Given the description of an element on the screen output the (x, y) to click on. 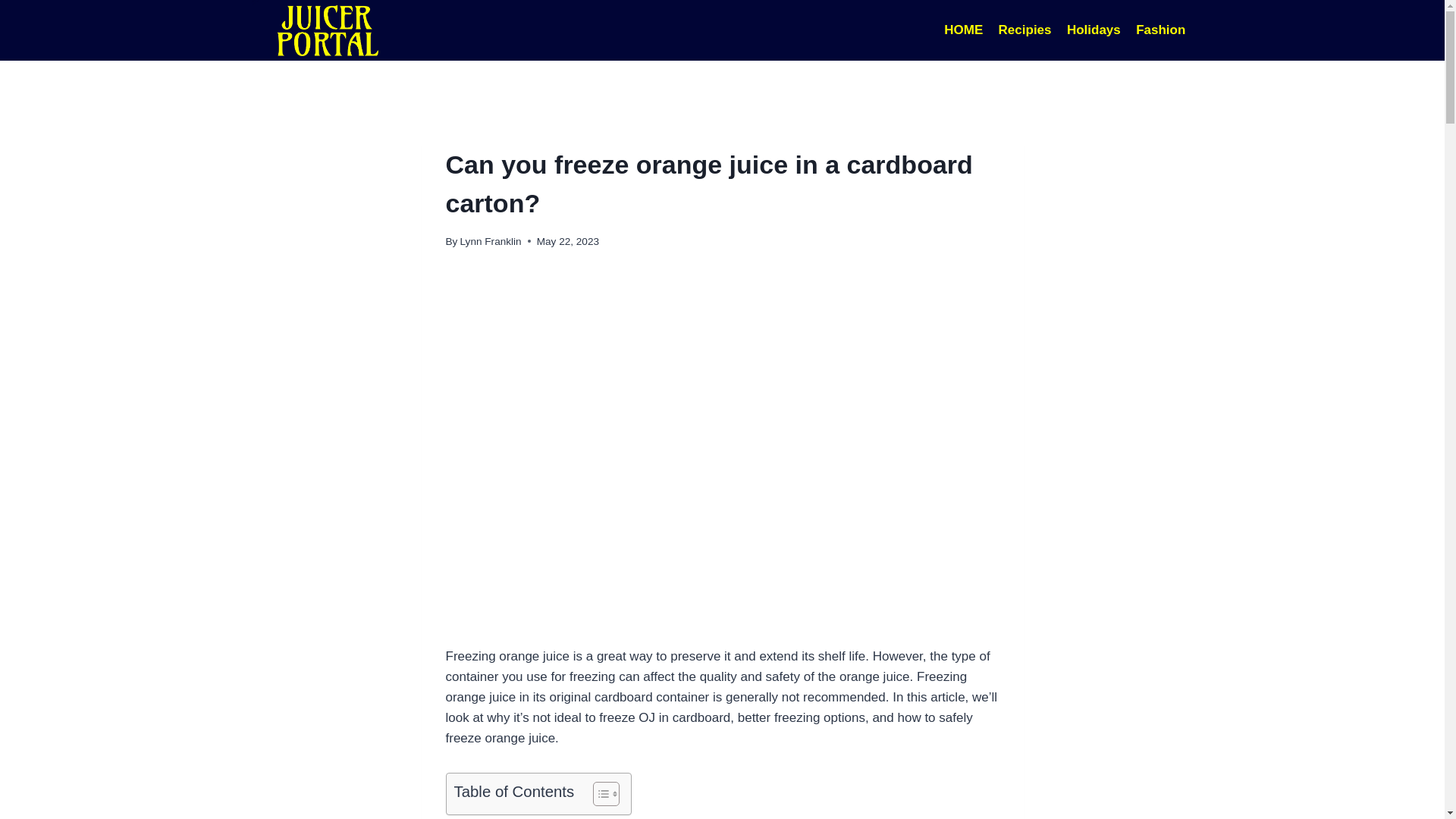
Holidays (1093, 30)
Lynn Franklin (490, 241)
HOME (963, 30)
Fashion (1160, 30)
Recipies (1024, 30)
